Given the description of an element on the screen output the (x, y) to click on. 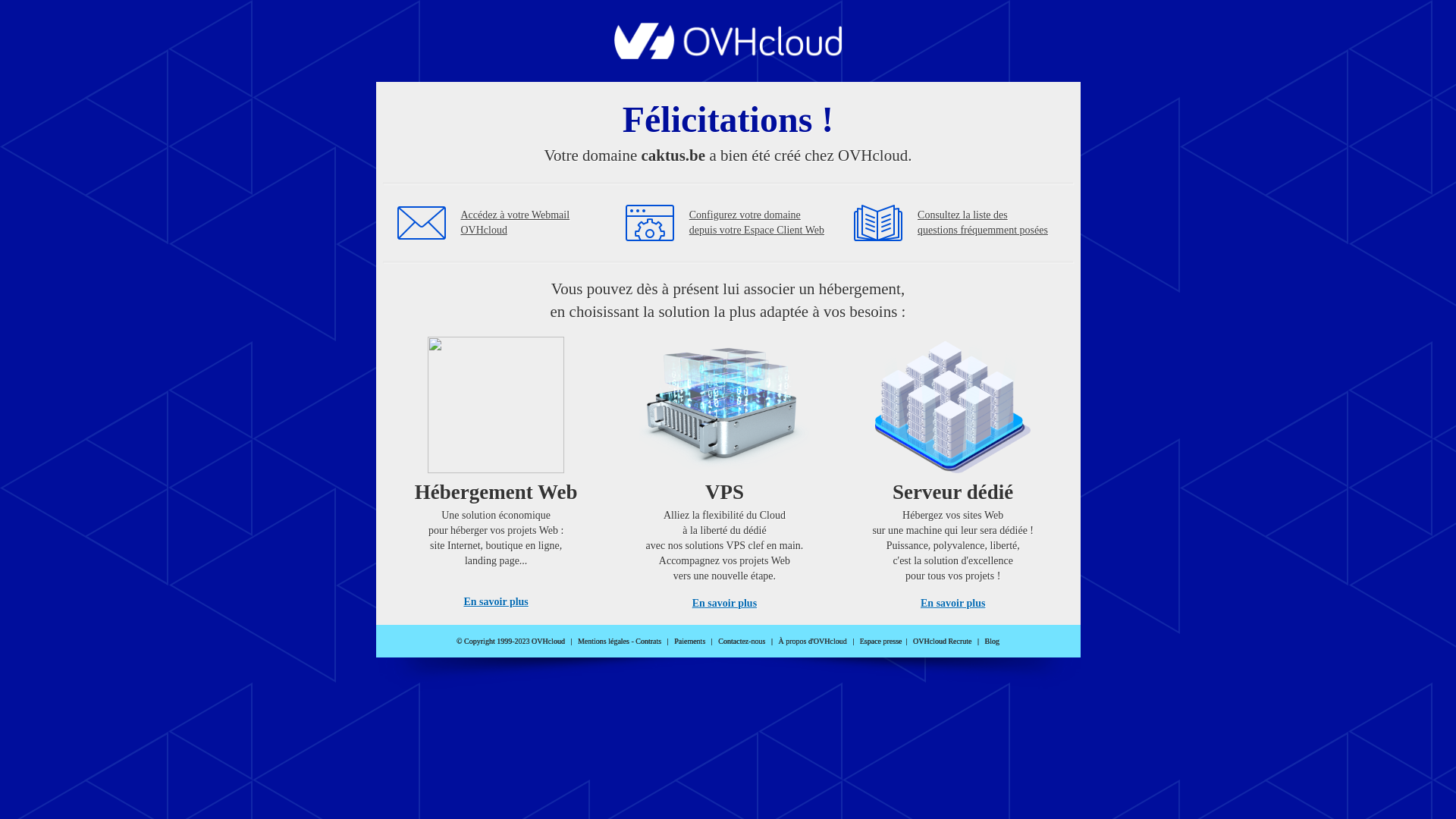
En savoir plus Element type: text (952, 602)
OVHcloud Element type: hover (727, 54)
En savoir plus Element type: text (724, 602)
Configurez votre domaine
depuis votre Espace Client Web Element type: text (756, 222)
OVHcloud Recrute Element type: text (942, 641)
VPS Element type: hover (724, 469)
En savoir plus Element type: text (495, 601)
Paiements Element type: text (689, 641)
Espace presse Element type: text (880, 641)
Blog Element type: text (992, 641)
Contactez-nous Element type: text (741, 641)
